Given the description of an element on the screen output the (x, y) to click on. 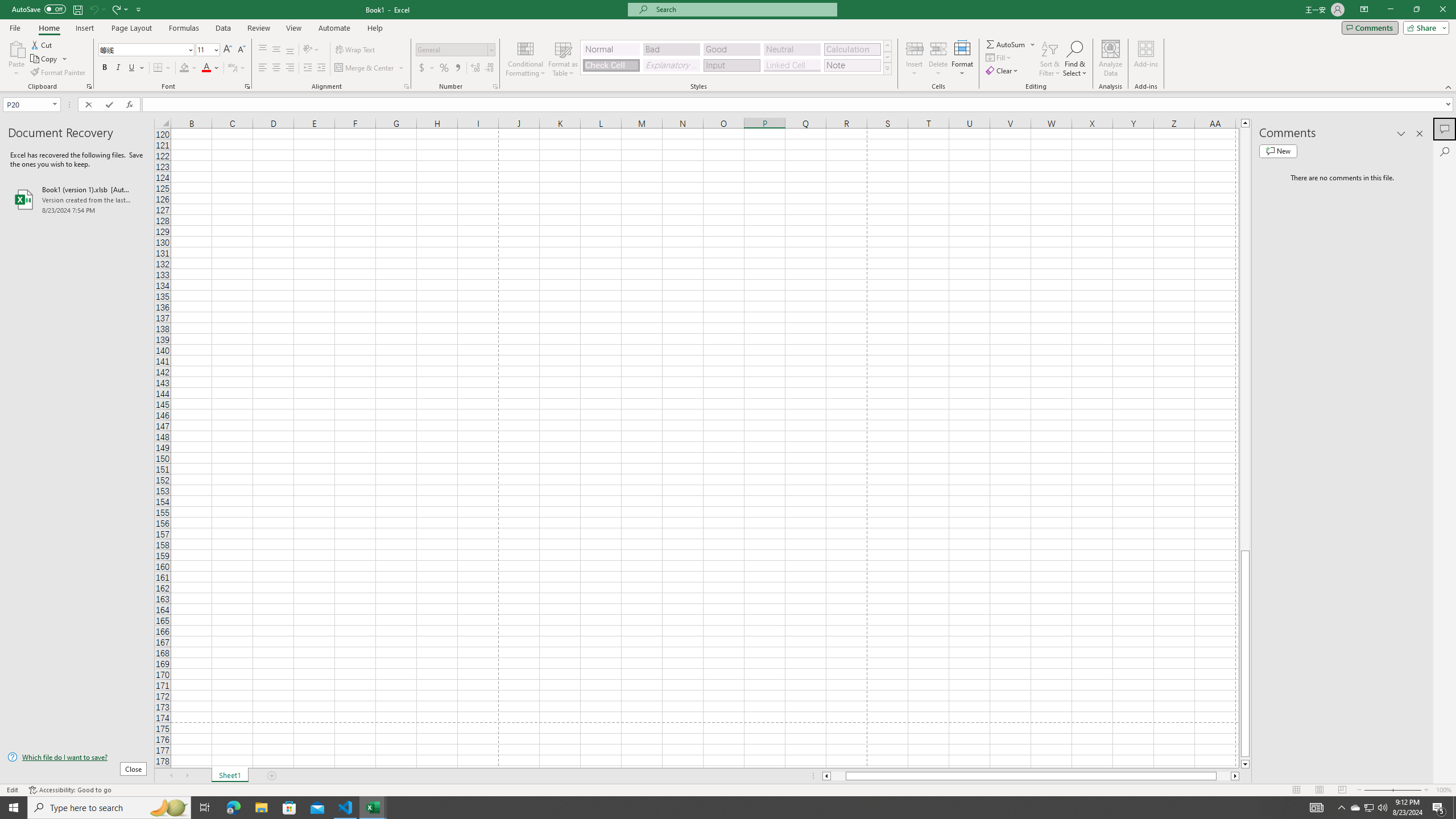
Decrease Font Size (240, 49)
Underline (136, 67)
Format Cell Number (494, 85)
Align Left (262, 67)
Bad (671, 49)
Cut (42, 44)
Comma Style (457, 67)
